Given the description of an element on the screen output the (x, y) to click on. 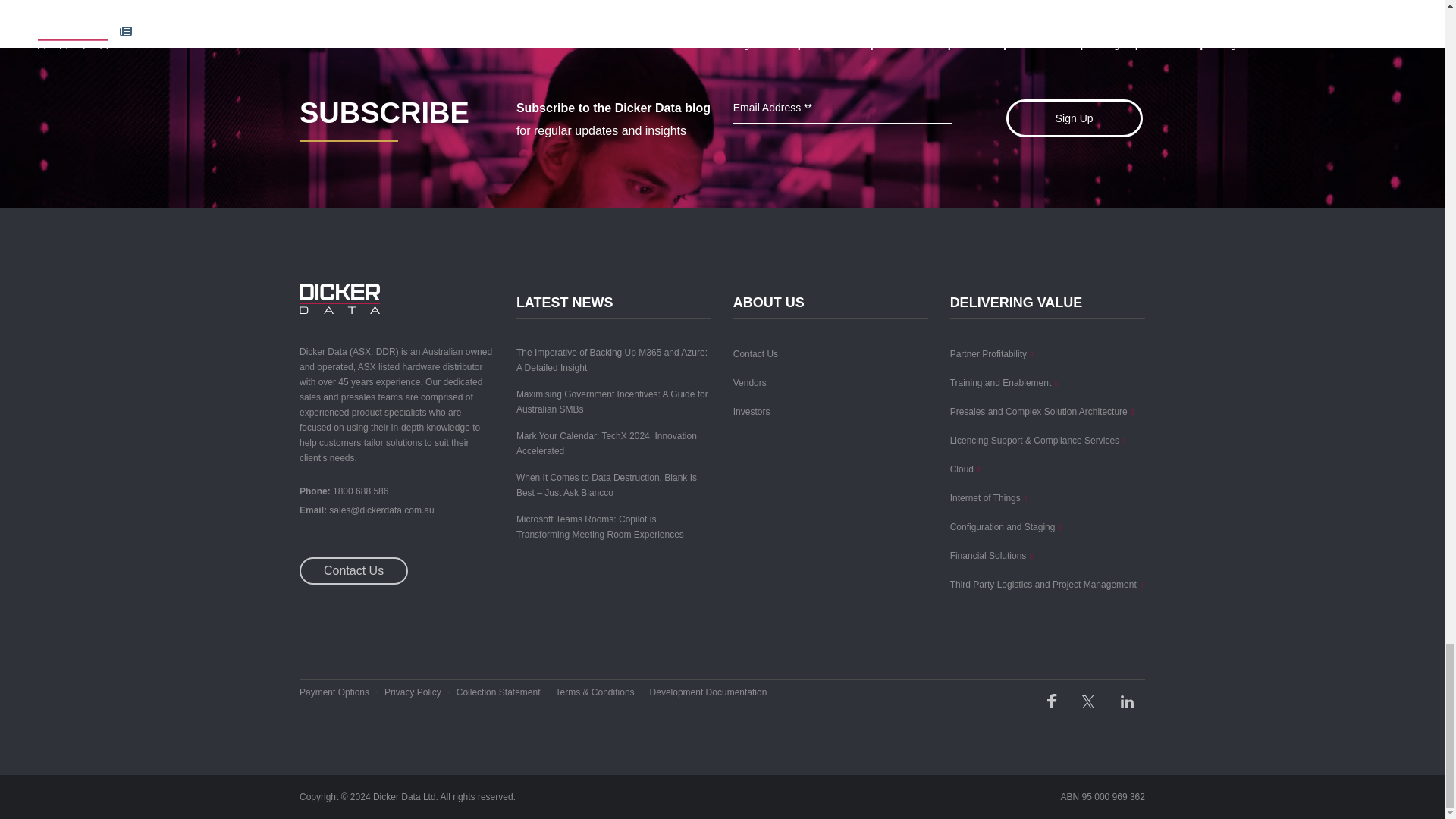
Sign Up (1074, 118)
